Given the description of an element on the screen output the (x, y) to click on. 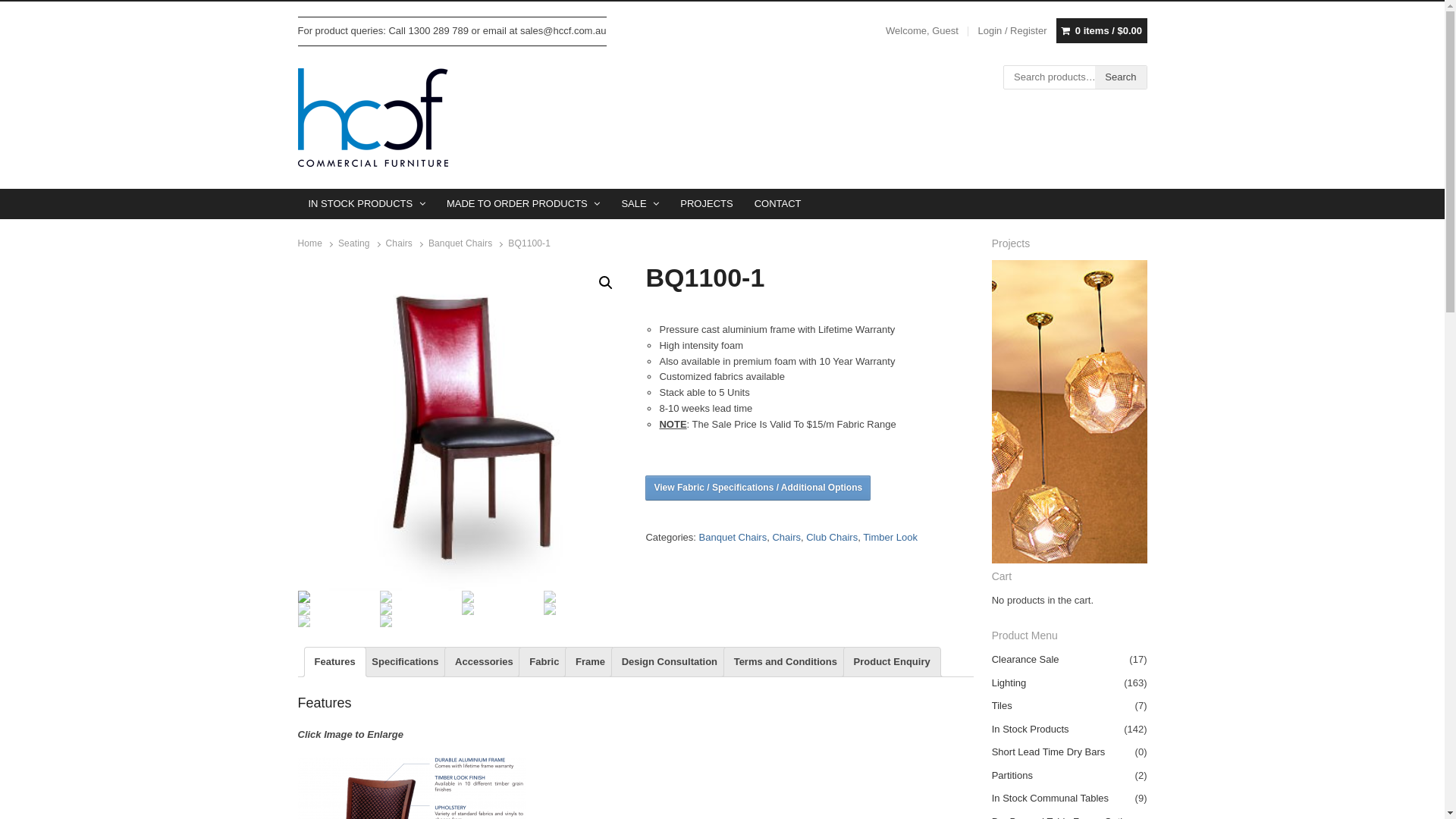
Timber Look Element type: text (889, 536)
SALE Element type: text (639, 203)
Frame Element type: text (590, 661)
View Fabric / Specifications / Additional Options Element type: text (757, 487)
IMG_7030 Element type: hover (460, 426)
Design Consultation Element type: text (669, 661)
Club Chairs Element type: text (831, 536)
MADE TO ORDER PRODUCTS Element type: text (523, 203)
Accessories Element type: text (484, 661)
Short Lead Time Dry Bars Element type: text (1048, 751)
Features Element type: text (333, 661)
Tiles Element type: text (1001, 705)
Banquet Chairs Element type: text (733, 536)
Chairs Element type: text (785, 536)
Partitions Element type: text (1011, 775)
0 items / $0.00 Element type: text (1101, 30)
Fabric Element type: text (543, 661)
IN STOCK PRODUCTS Element type: text (366, 203)
Terms and Conditions Element type: text (785, 661)
HCCF Commercial Furniture Element type: hover (372, 117)
IMG_1668 Element type: hover (788, 426)
In Stock Communal Tables Element type: text (1049, 797)
Seating Element type: text (354, 243)
Search Element type: text (1120, 76)
Banquet Chairs Element type: text (460, 243)
CONTACT Element type: text (777, 203)
Clearance Sale Element type: text (1025, 659)
Login / Register Element type: text (1012, 30)
Lighting Element type: text (1008, 682)
Product Enquiry Element type: text (891, 661)
Home Element type: text (309, 243)
PROJECTS Element type: text (706, 203)
Chairs Element type: text (398, 243)
Specifications Element type: text (404, 661)
In Stock Products Element type: text (1030, 728)
